Given the description of an element on the screen output the (x, y) to click on. 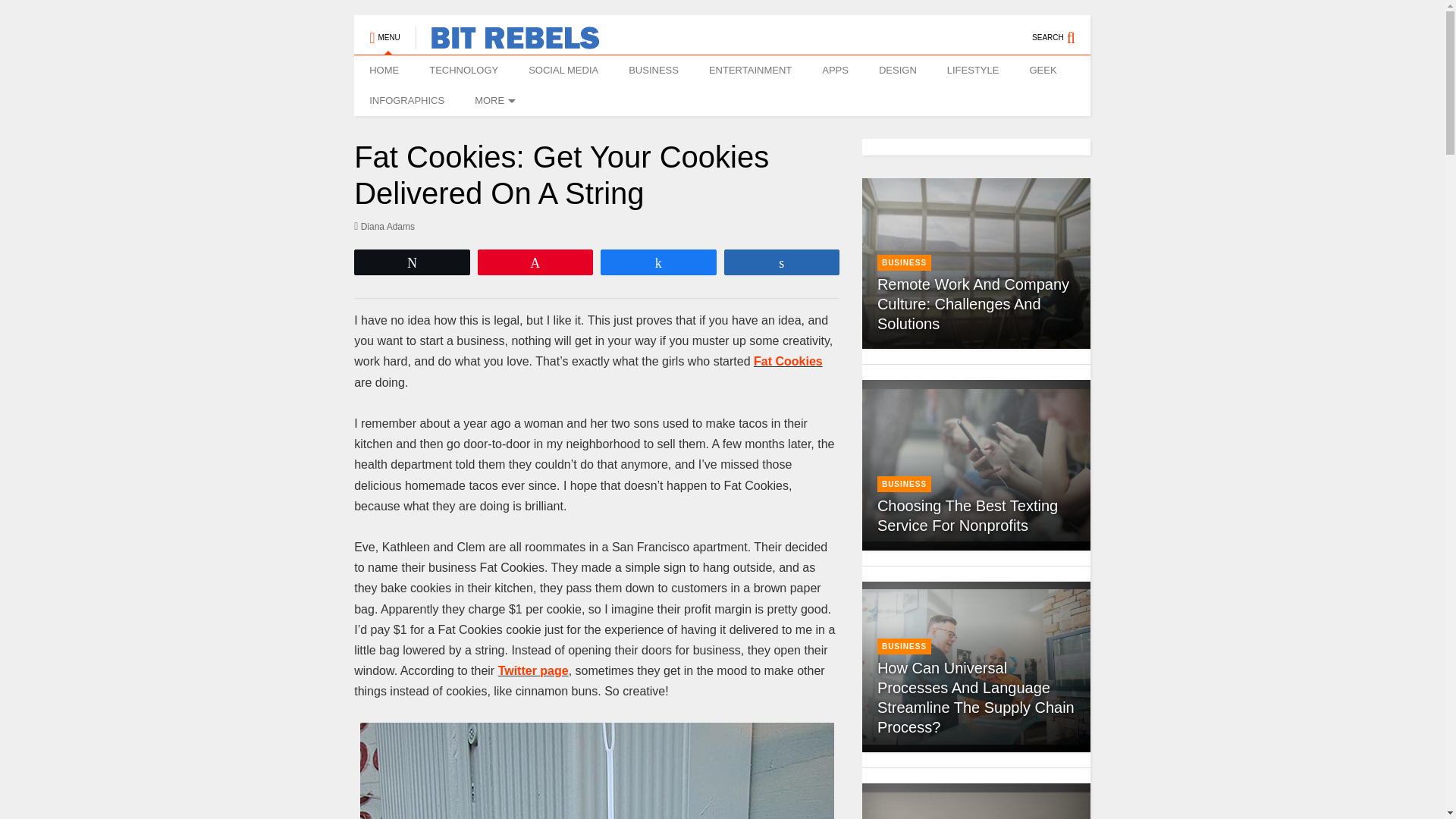
INFOGRAPHICS (406, 100)
DESIGN (897, 70)
Bit Rebels (506, 42)
HOME (383, 70)
GEEK (1042, 70)
Remote Work And Company Culture: Challenges And Solutions (976, 263)
BUSINESS (653, 70)
SOCIAL MEDIA (562, 70)
Diana Adams (383, 226)
LIFESTYLE (972, 70)
Fat Cookies San Fransisco (596, 770)
TECHNOLOGY (463, 70)
MENU (383, 30)
Eat Fat Cookies On Twitter (533, 670)
Diana Adams (383, 226)
